Given the description of an element on the screen output the (x, y) to click on. 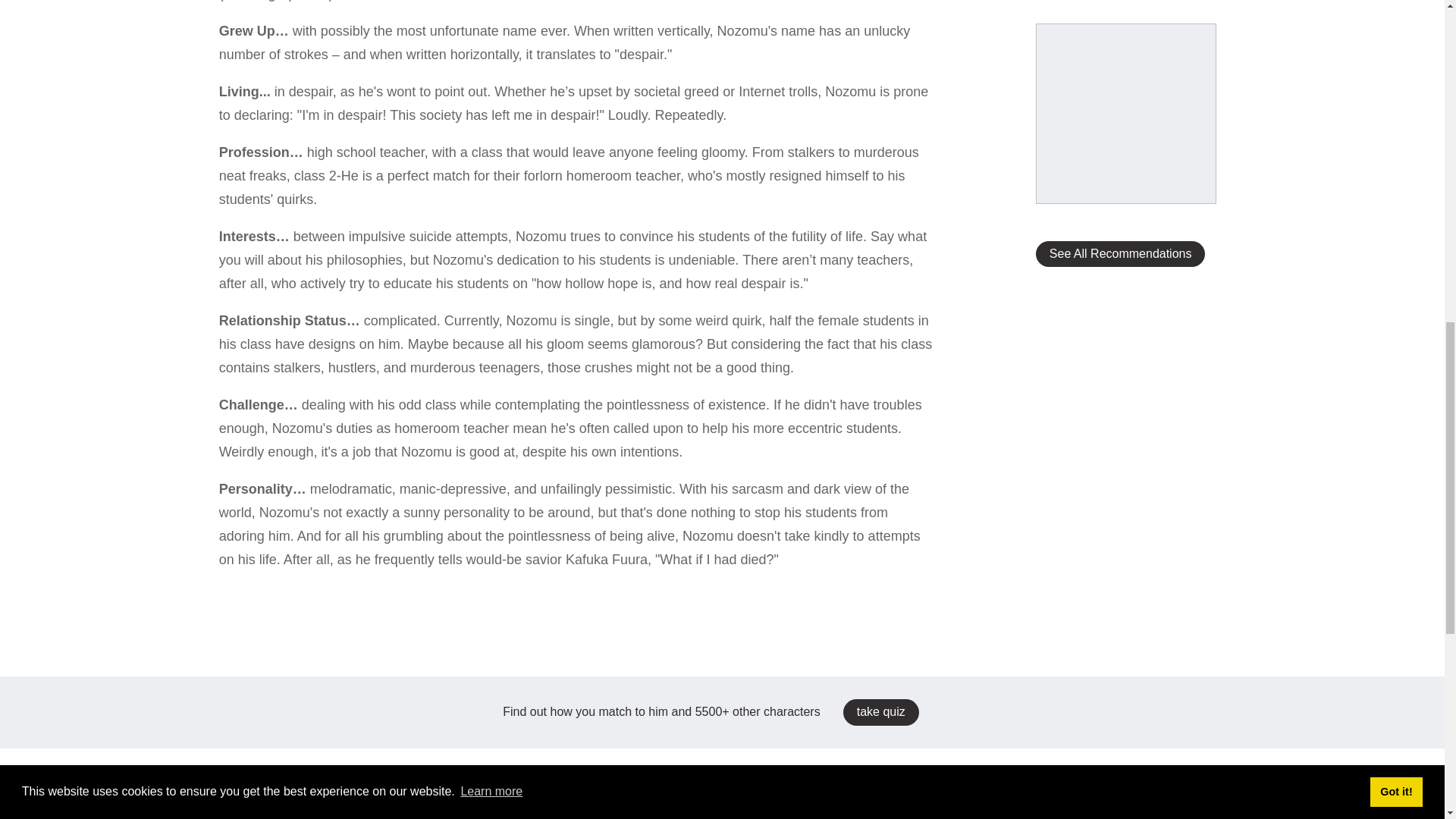
take quiz (880, 711)
See All Recommendations (1120, 253)
Learn More about CharacTour (722, 278)
sign in (505, 94)
GET STARTED (722, 245)
